Given the description of an element on the screen output the (x, y) to click on. 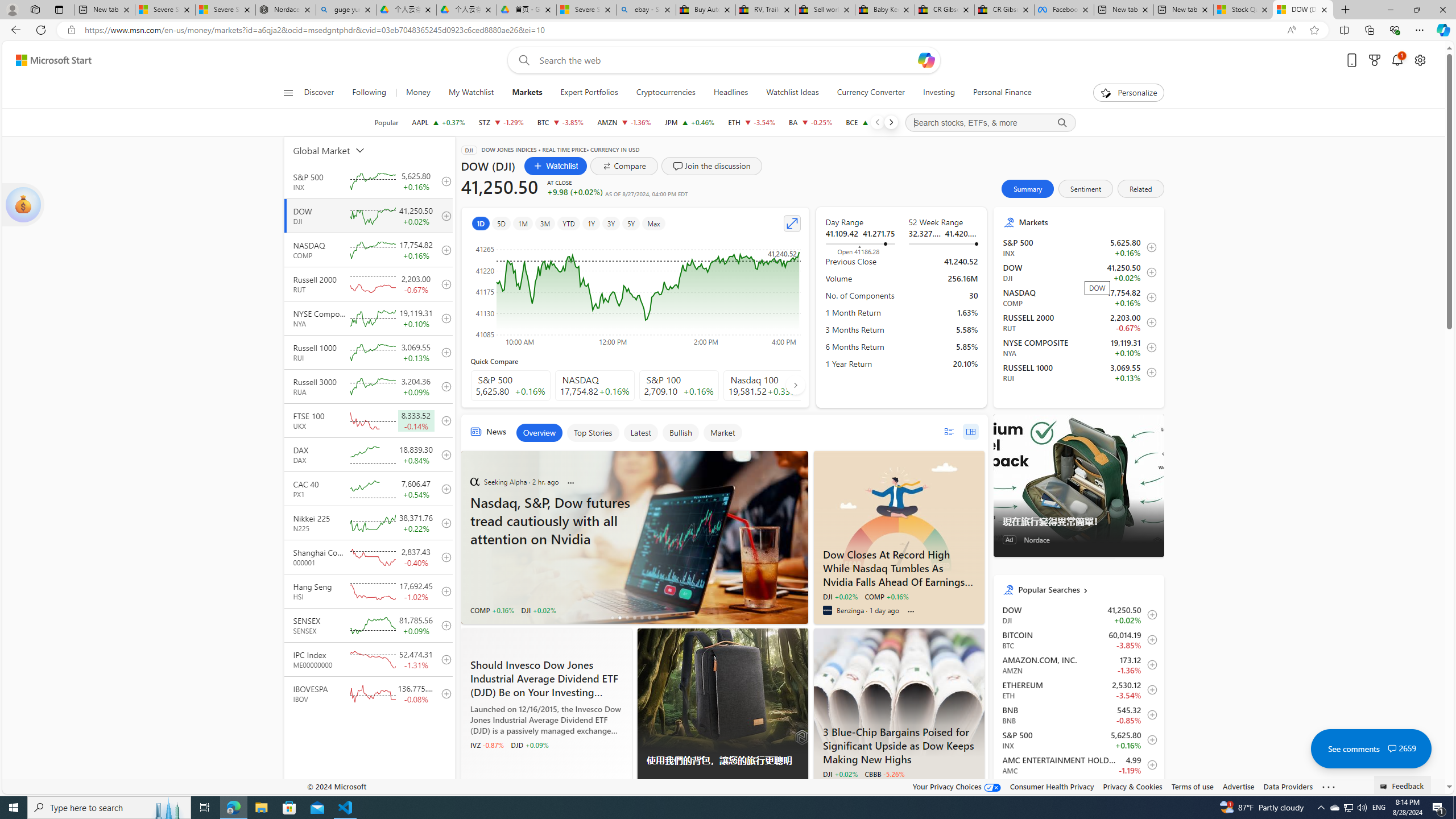
1M (522, 223)
Enter your search term (726, 59)
Your Privacy Choices (956, 785)
Terms of use (1192, 785)
Class: notInWatclistIcon-DS-EntryPoint1-5 lightTheme (1148, 372)
AdChoices (798, 789)
Popular (386, 121)
AAPL APPLE INC. increase 228.03 +0.85 +0.37% (437, 122)
3M (545, 223)
AutomationID: finance_carousel_navi_arrow (795, 385)
Personal Finance (997, 92)
